Given the description of an element on the screen output the (x, y) to click on. 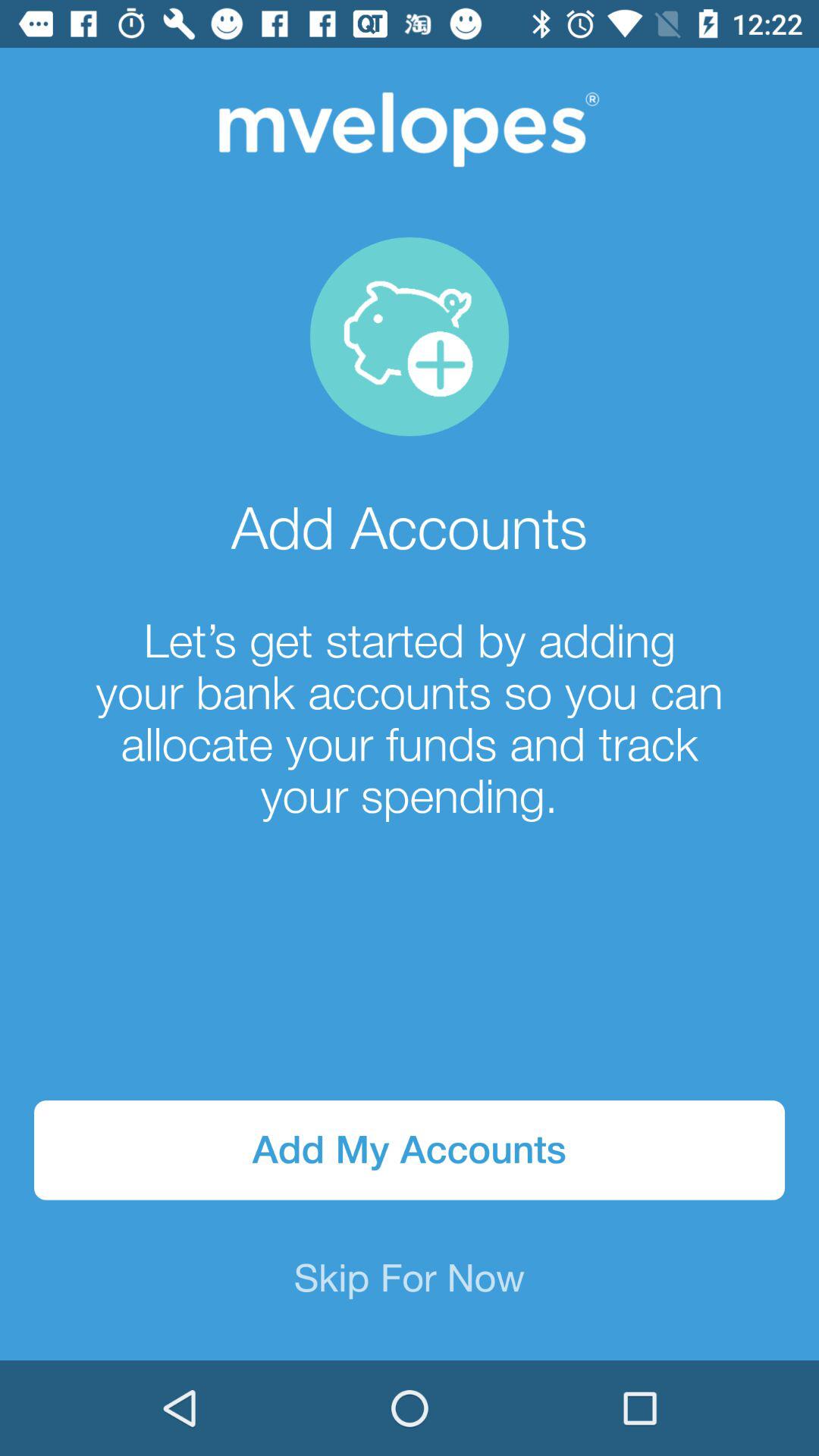
select the icon below add my accounts icon (409, 1280)
